Given the description of an element on the screen output the (x, y) to click on. 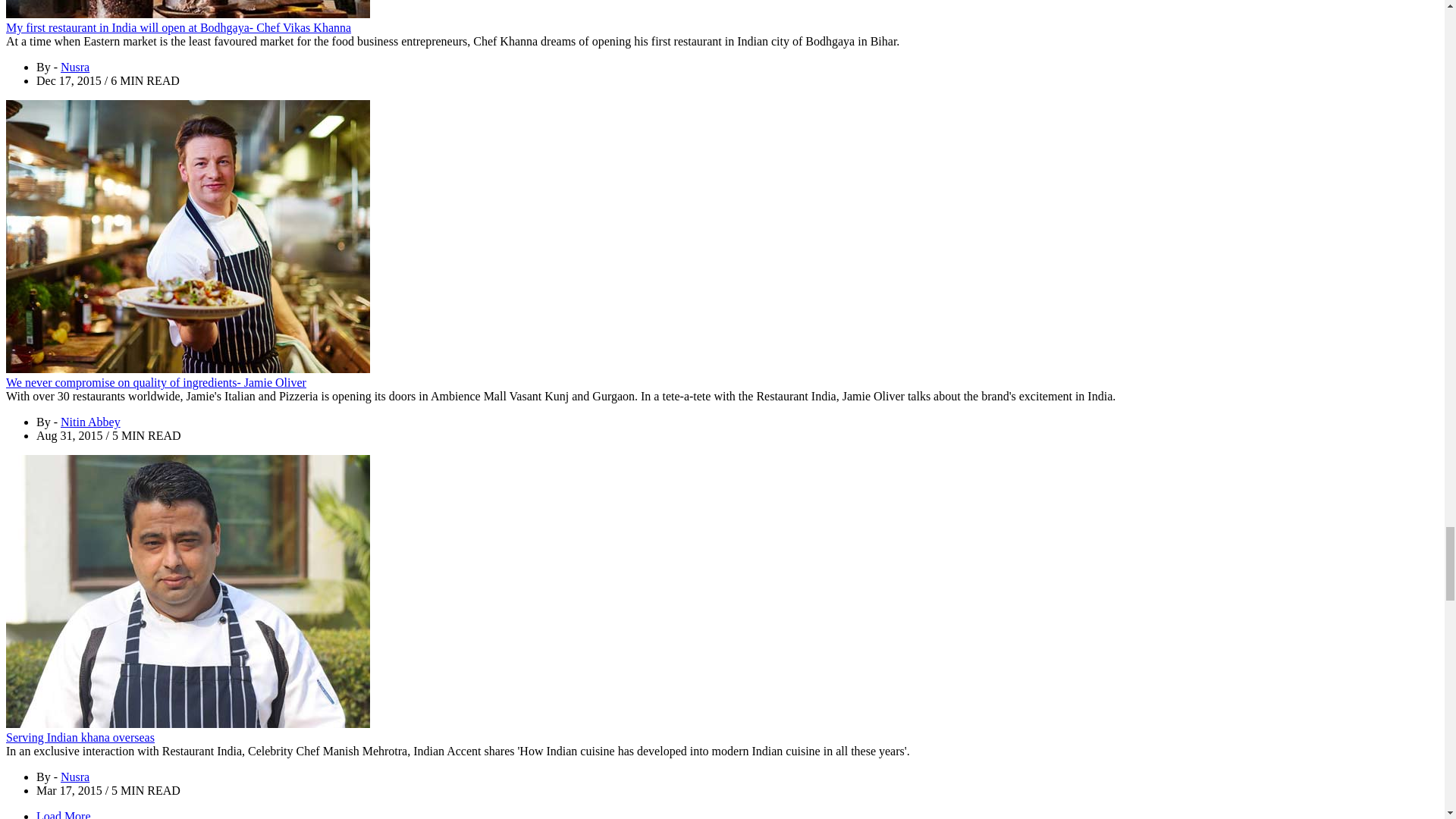
Load more items (63, 814)
